Given the description of an element on the screen output the (x, y) to click on. 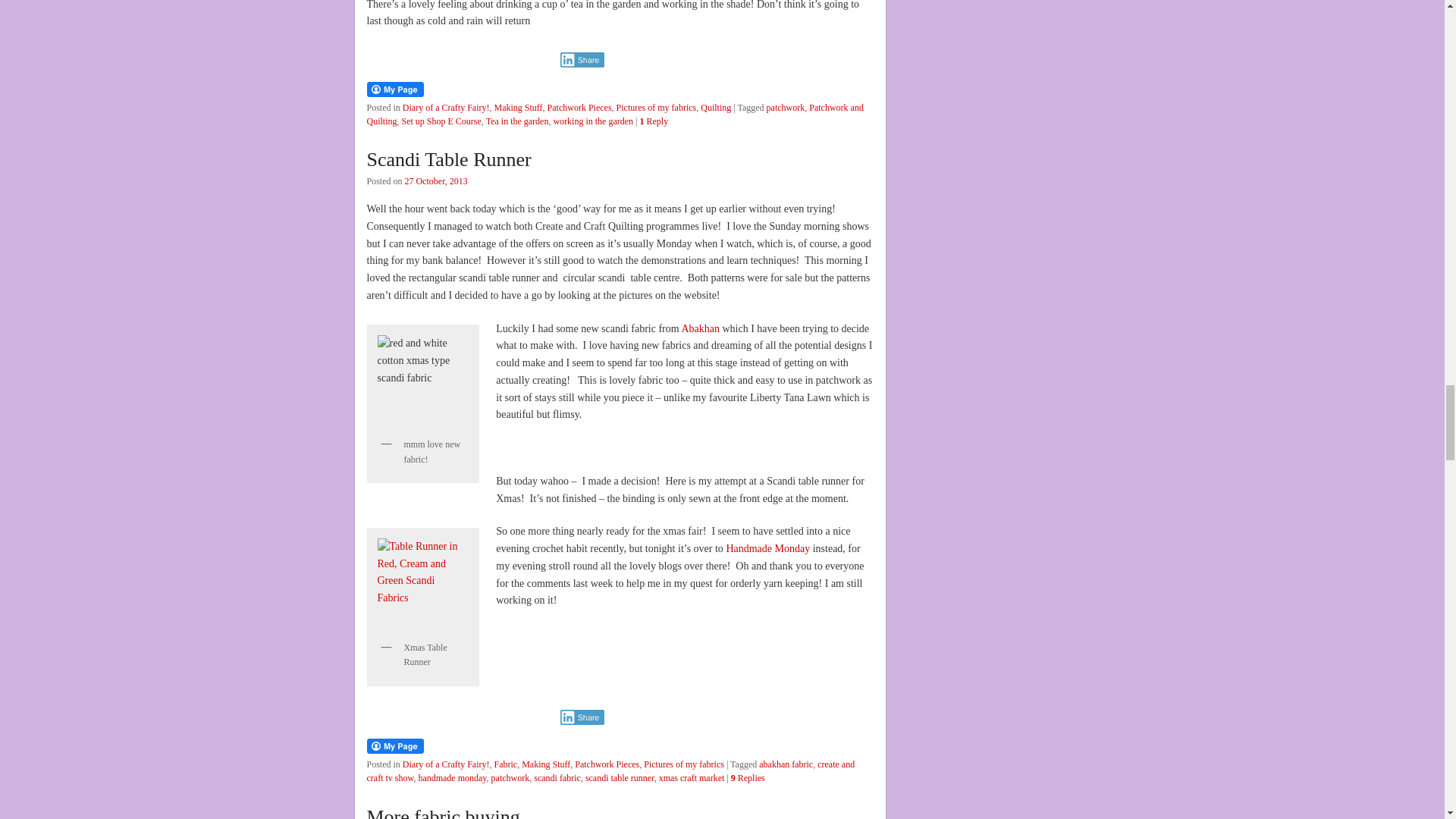
Scandi Fabrics (421, 379)
4:36 pm (435, 181)
